Given the description of an element on the screen output the (x, y) to click on. 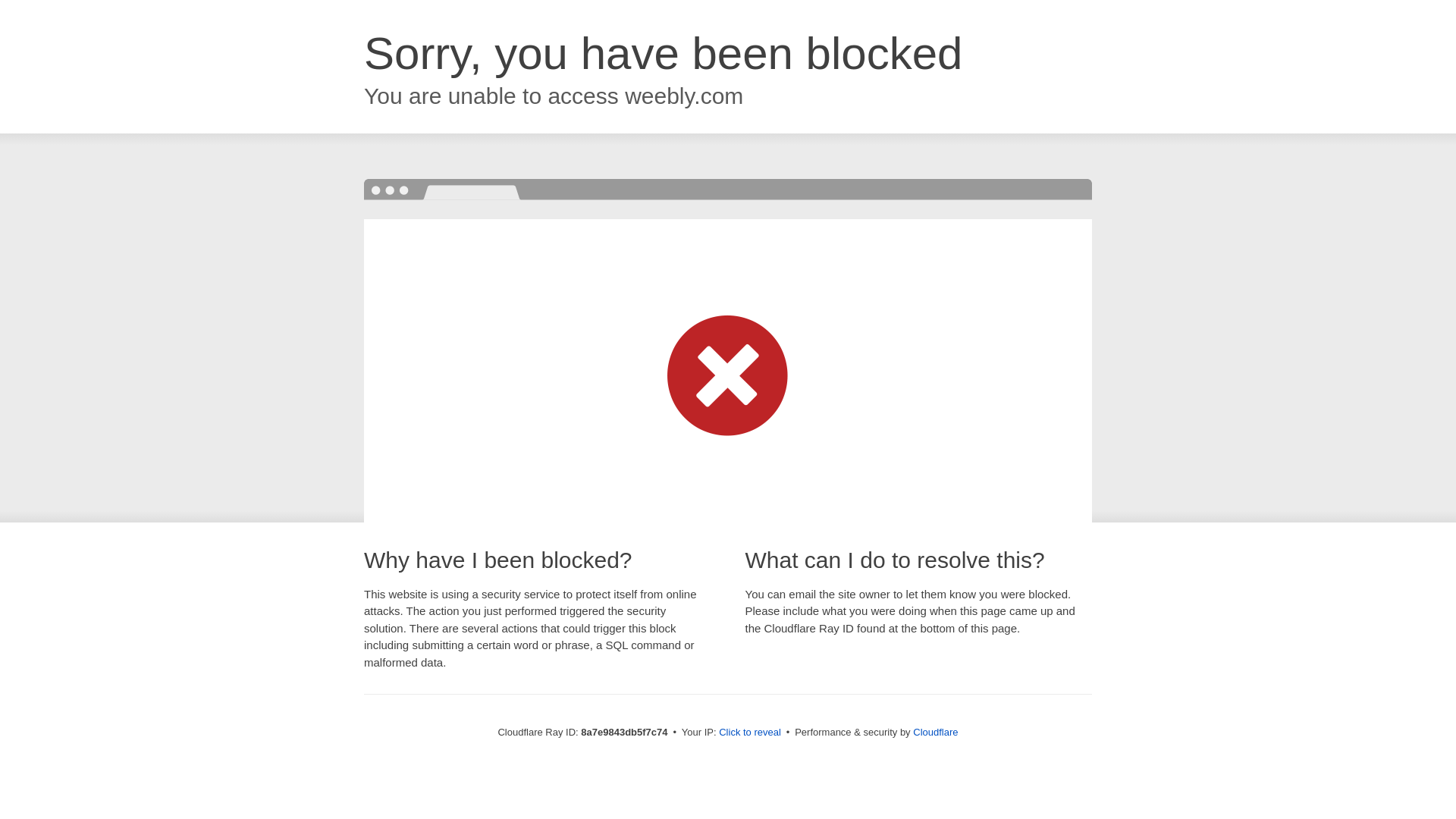
Cloudflare (935, 731)
Click to reveal (749, 732)
